Given the description of an element on the screen output the (x, y) to click on. 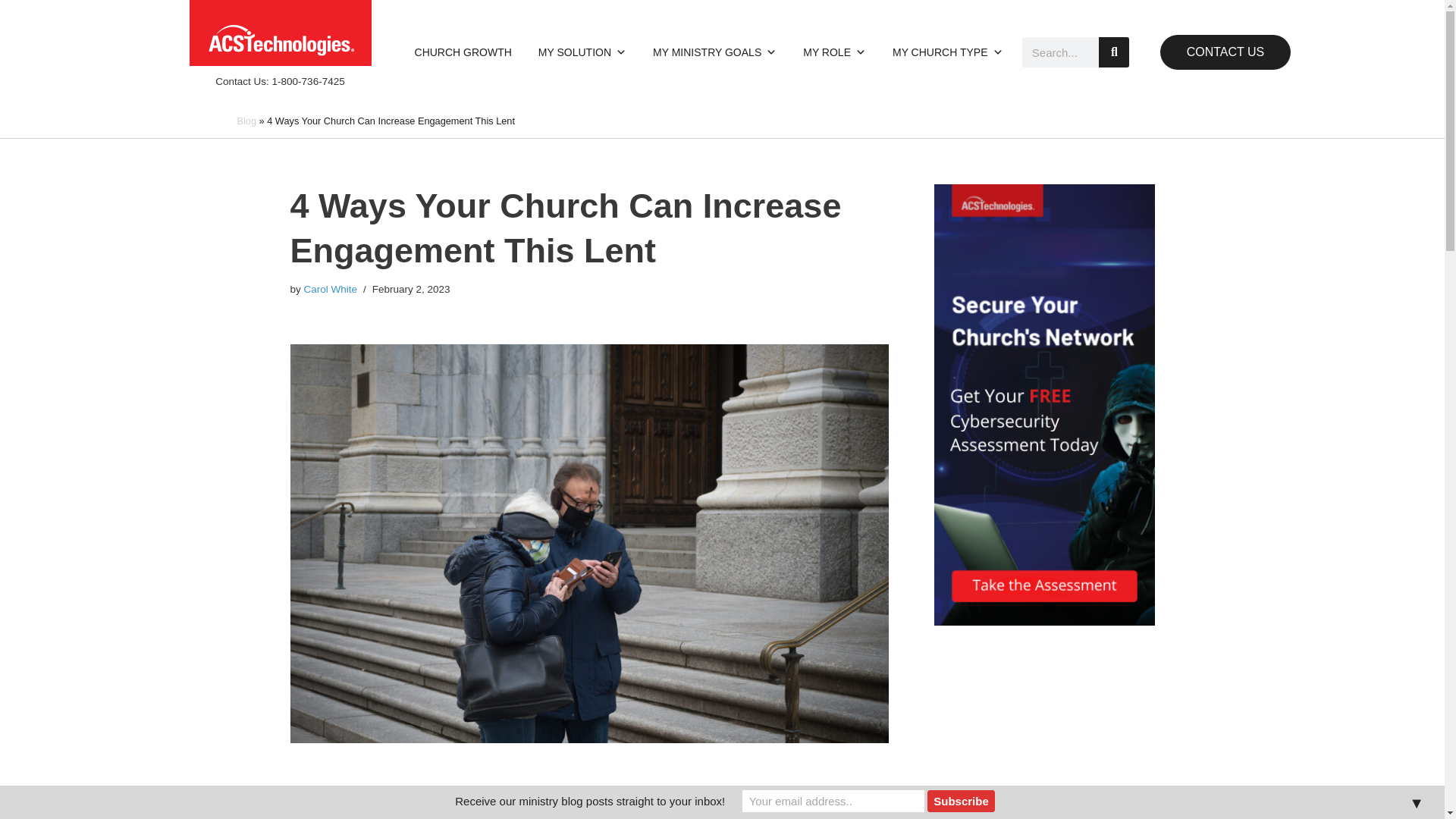
Contact Us: 1-800-736-7425 (279, 81)
MY ROLE (833, 52)
MY MINISTRY GOALS (714, 52)
MY SOLUTION (582, 52)
CHURCH GROWTH (463, 52)
Skip to content (11, 31)
Subscribe (961, 801)
Posts by Carol White (331, 288)
